Given the description of an element on the screen output the (x, y) to click on. 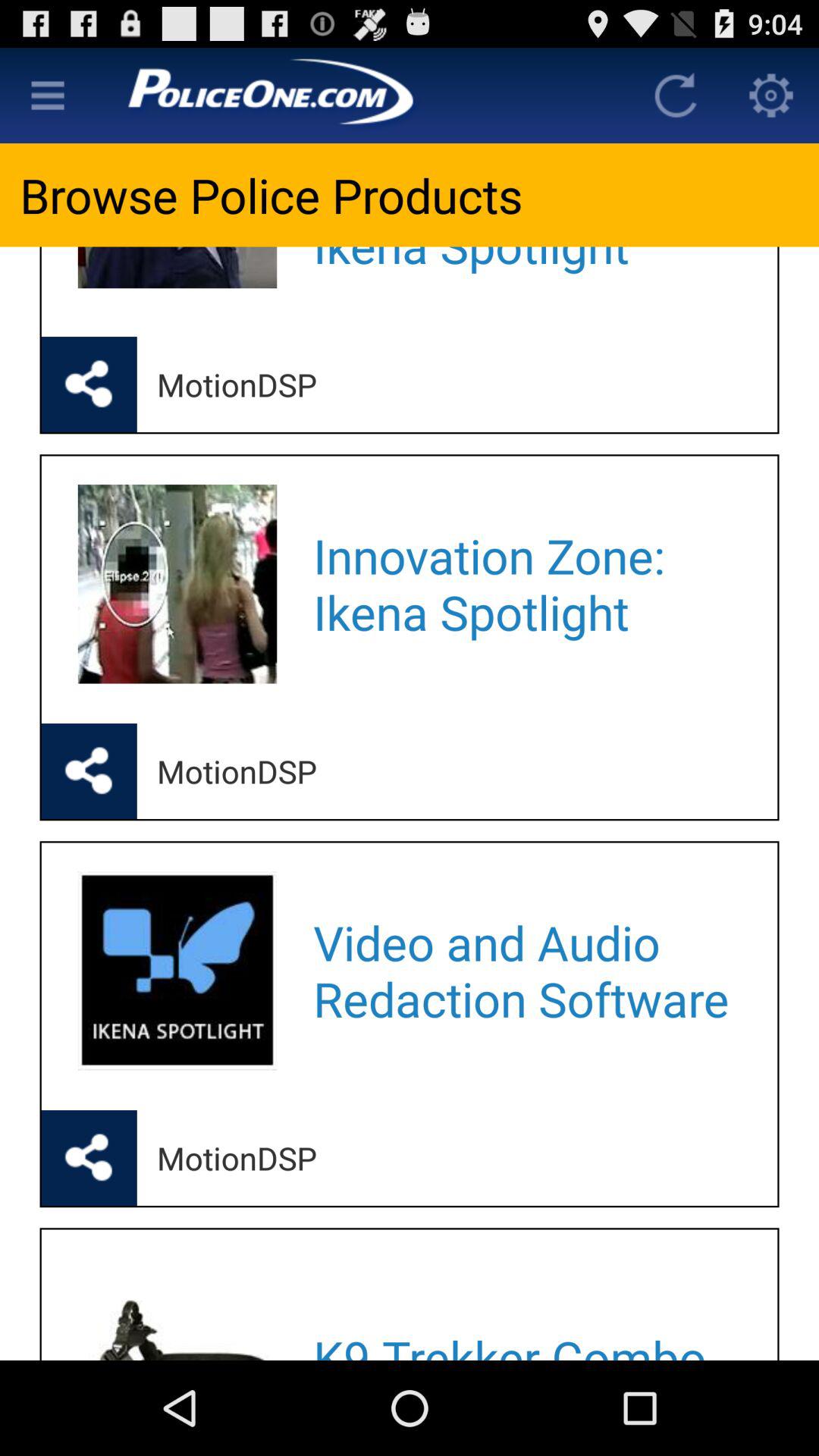
select innovation zone ikena app (525, 583)
